Given the description of an element on the screen output the (x, y) to click on. 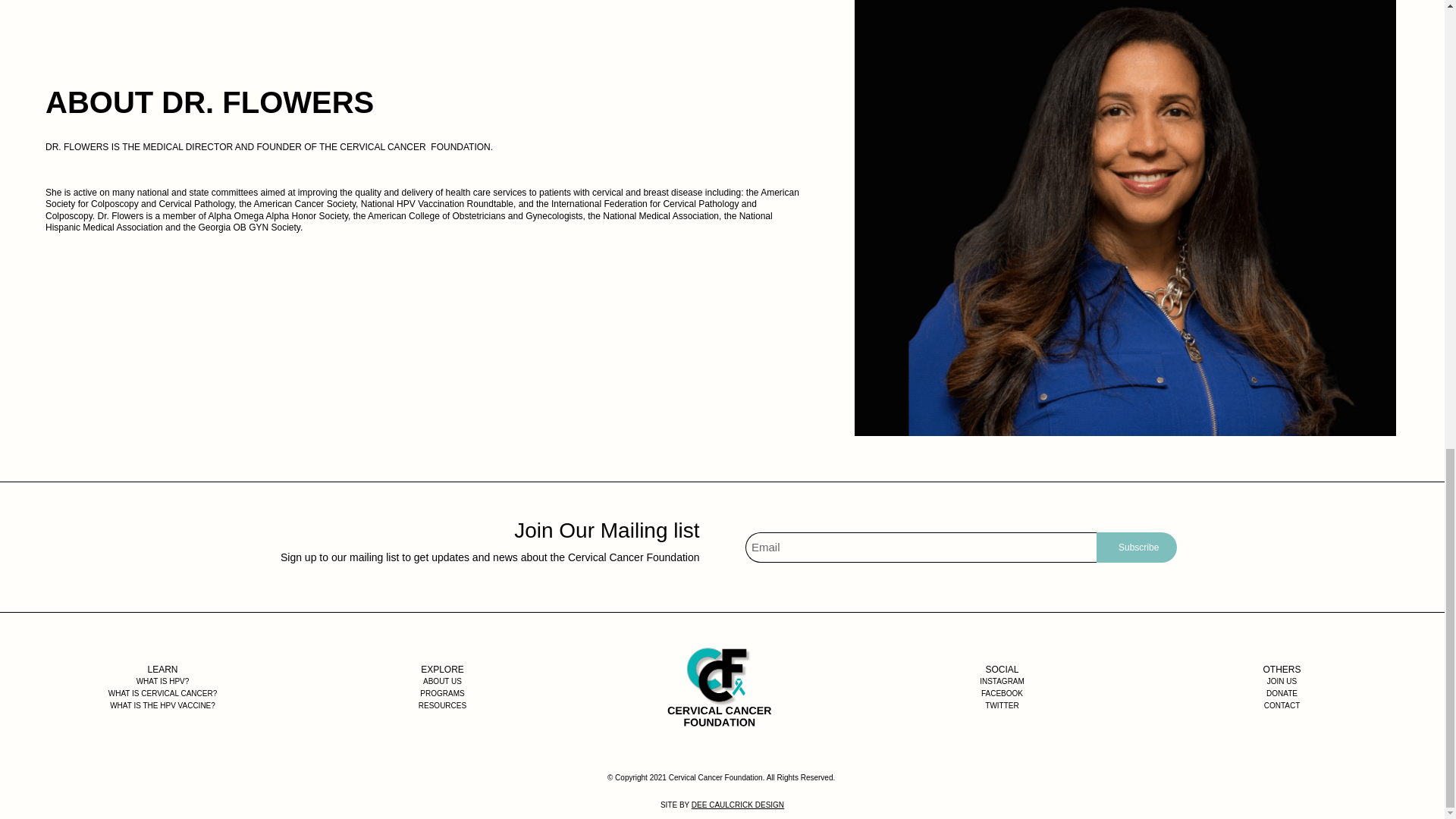
JOIN US (1281, 681)
WHAT IS CERVICAL CANCER? (162, 693)
RESOURCES (442, 705)
DEE CAULCRICK DESIGN (737, 804)
WHAT IS THE HPV VACCINE? (162, 705)
CONTACT (1281, 705)
WHAT IS HPV? (162, 681)
DONATE (1281, 693)
PROGRAMS (442, 693)
ABOUT US (442, 681)
